Given the description of an element on the screen output the (x, y) to click on. 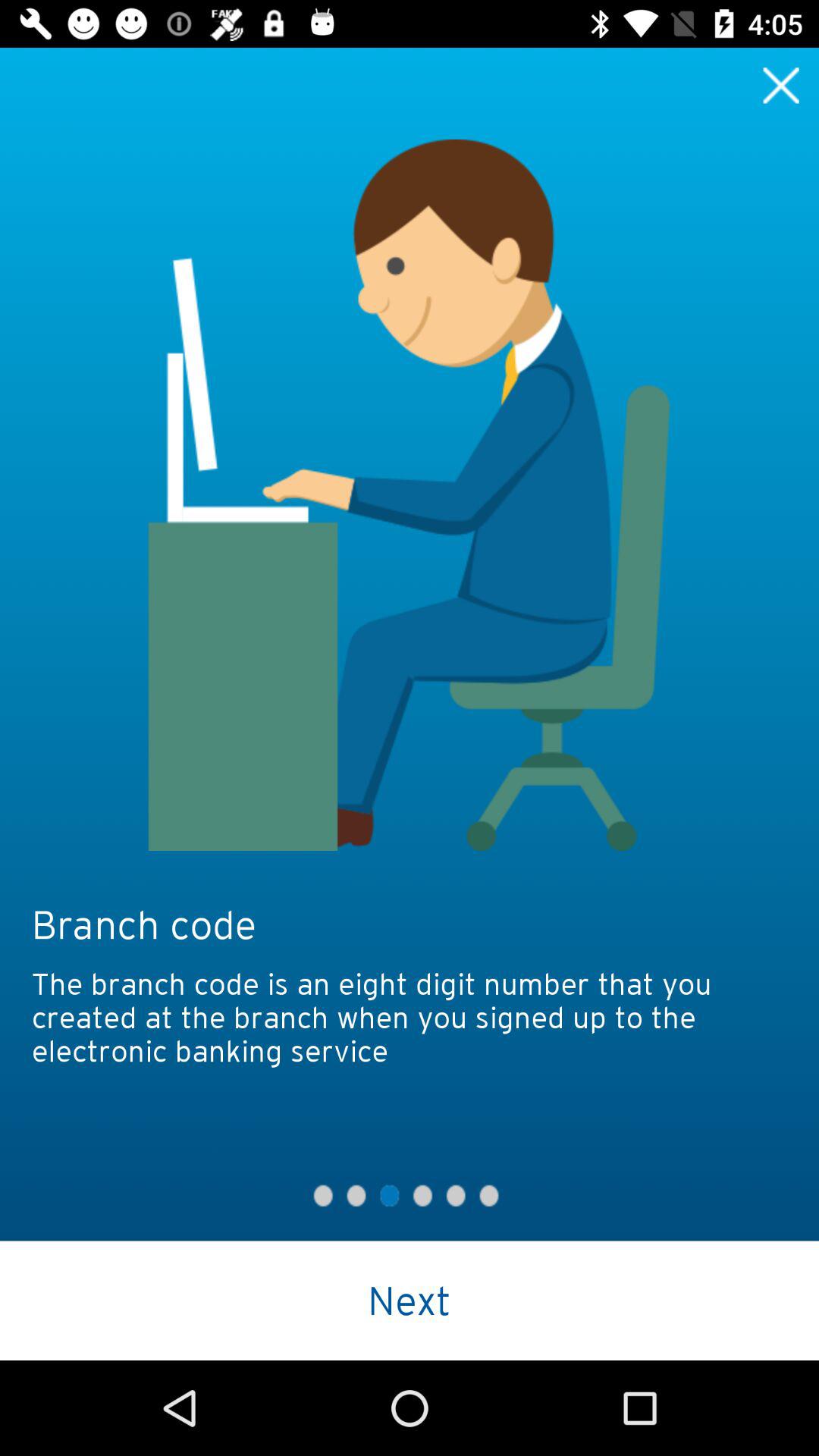
scroll to the next item (409, 1300)
